Given the description of an element on the screen output the (x, y) to click on. 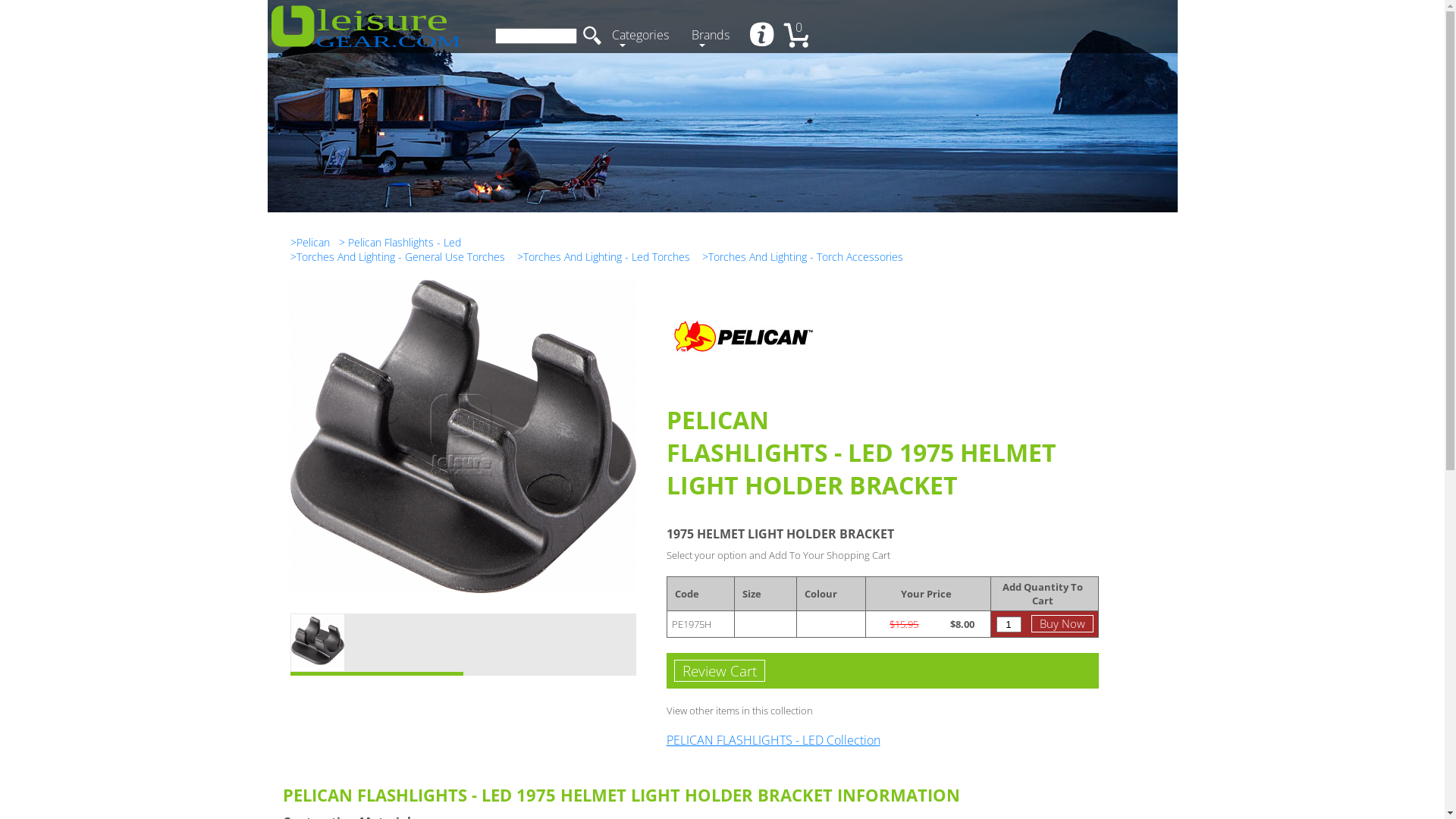
0 Element type: text (801, 36)
PELICAN FLASHLIGHTS - LED Collection Element type: text (772, 739)
>Torches And Lighting - Led Torches Element type: text (603, 256)
Buy Now Element type: text (1062, 623)
>Torches And Lighting - Torch Accessories Element type: text (802, 256)
Brands Element type: text (714, 36)
> Pelican Flashlights - Led Element type: text (399, 242)
Review Cart Element type: text (718, 670)
Categories Element type: text (643, 36)
>Torches And Lighting - General Use Torches Element type: text (396, 256)
  Element type: text (762, 35)
>Pelican Element type: text (309, 242)
About Us Element type: hover (762, 35)
search Element type: hover (591, 35)
Product Search Element type: hover (535, 35)
LeisureGear Element type: hover (366, 26)
